Given the description of an element on the screen output the (x, y) to click on. 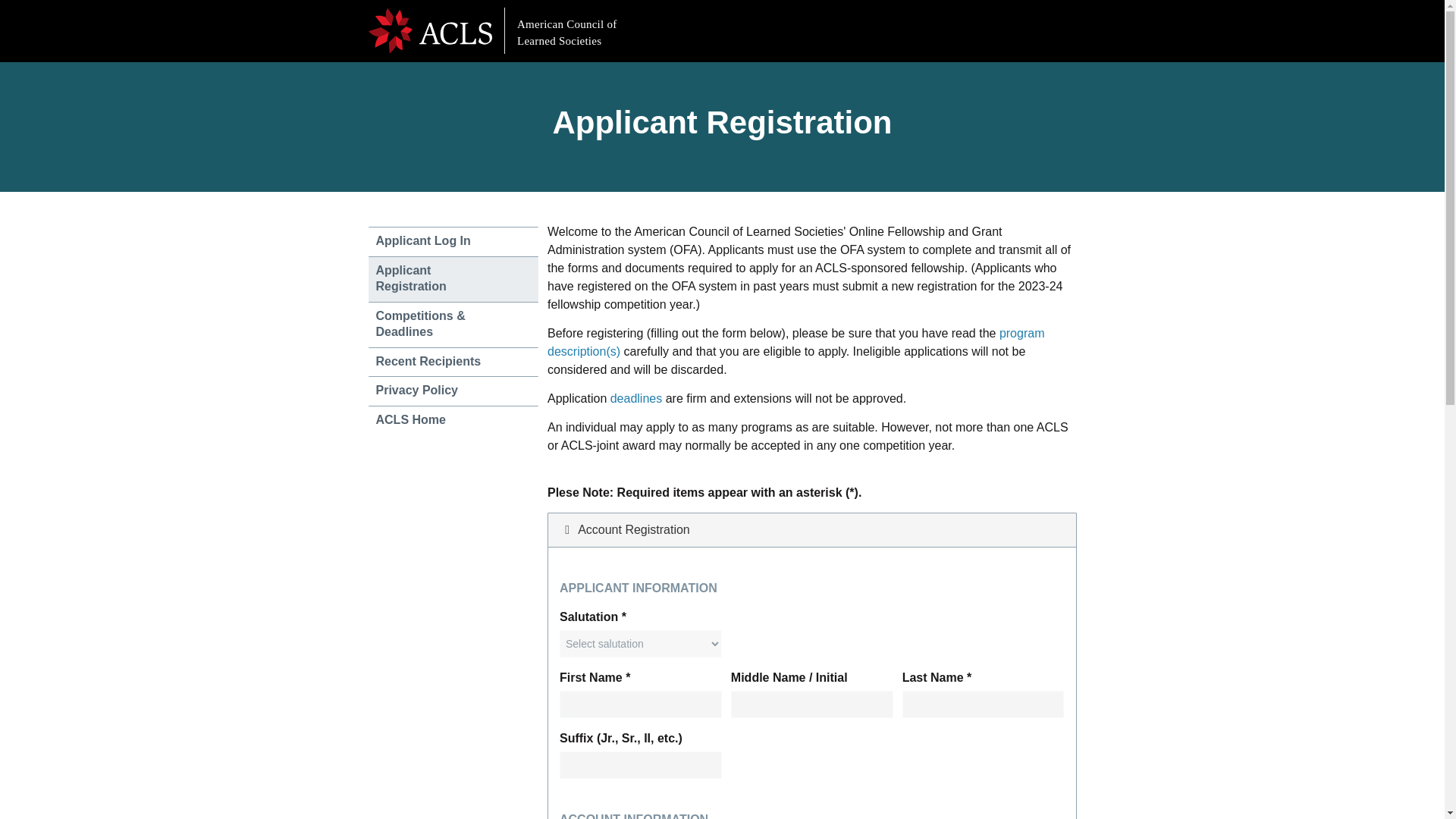
Applicant Log In (453, 241)
ACLS Home (453, 420)
Recent Recipients (453, 360)
Privacy Policy (453, 390)
deadlines (636, 398)
Applicant Registration (453, 278)
